Given the description of an element on the screen output the (x, y) to click on. 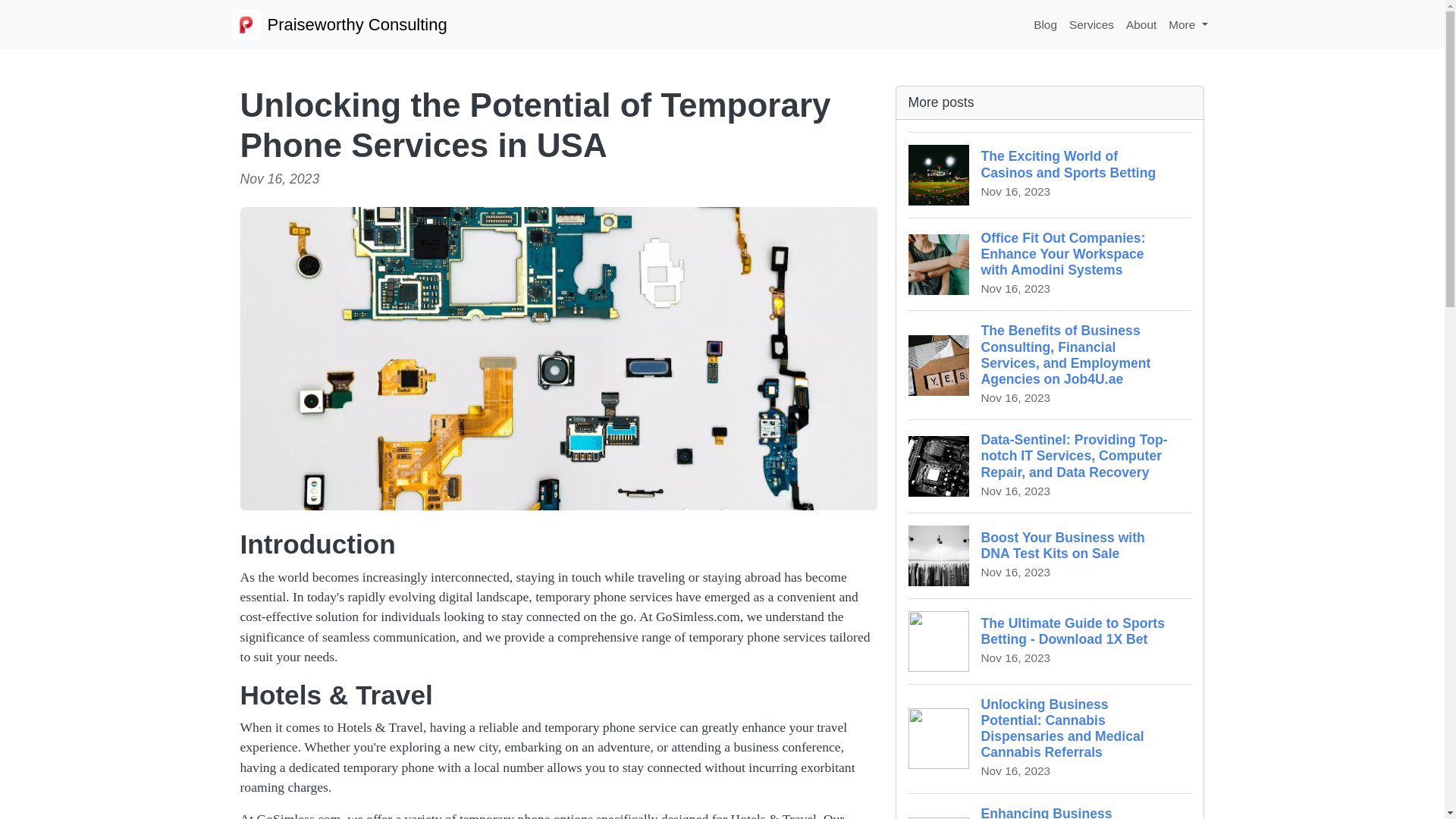
About (1140, 24)
More (1186, 24)
Services (1090, 24)
Praiseworthy Consulting (338, 24)
Blog (1044, 24)
